Given the description of an element on the screen output the (x, y) to click on. 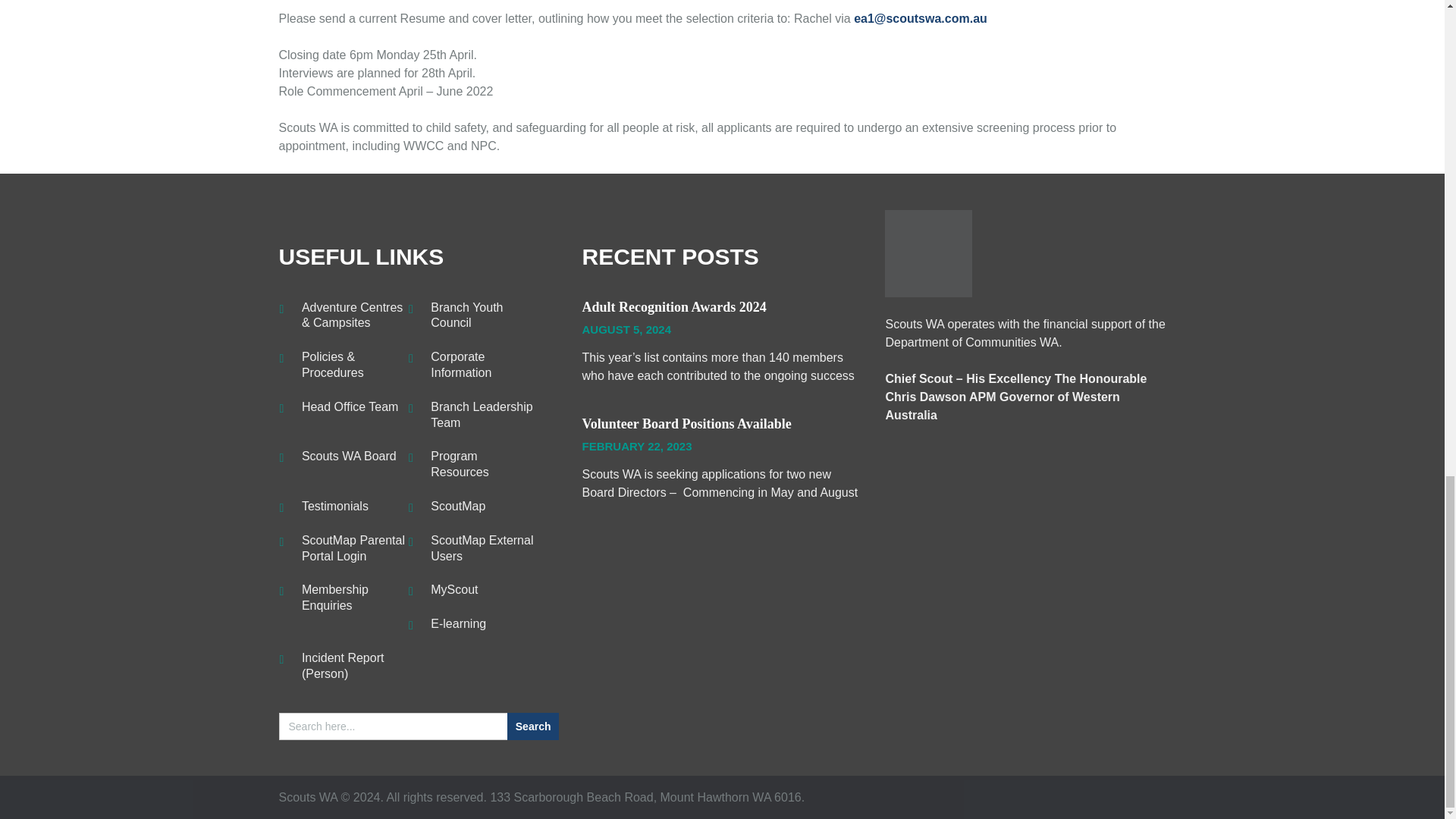
Search (532, 726)
Search (532, 726)
Head Office Team (349, 407)
